Given the description of an element on the screen output the (x, y) to click on. 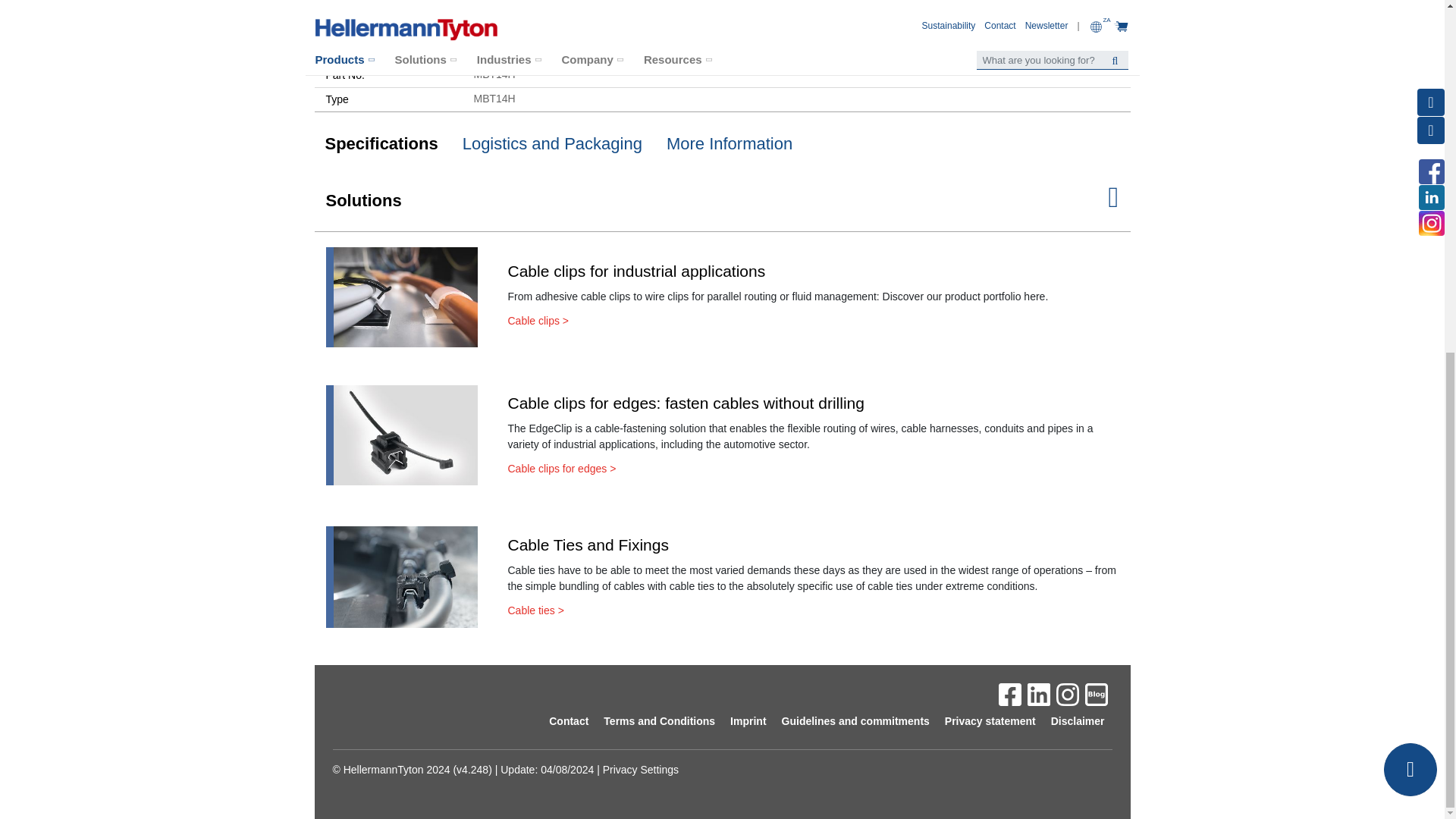
Facebook (1011, 694)
Contact (1410, 155)
Link Corporate Blog (1097, 694)
LinkedIn (1040, 694)
Instagram (1068, 694)
